Given the description of an element on the screen output the (x, y) to click on. 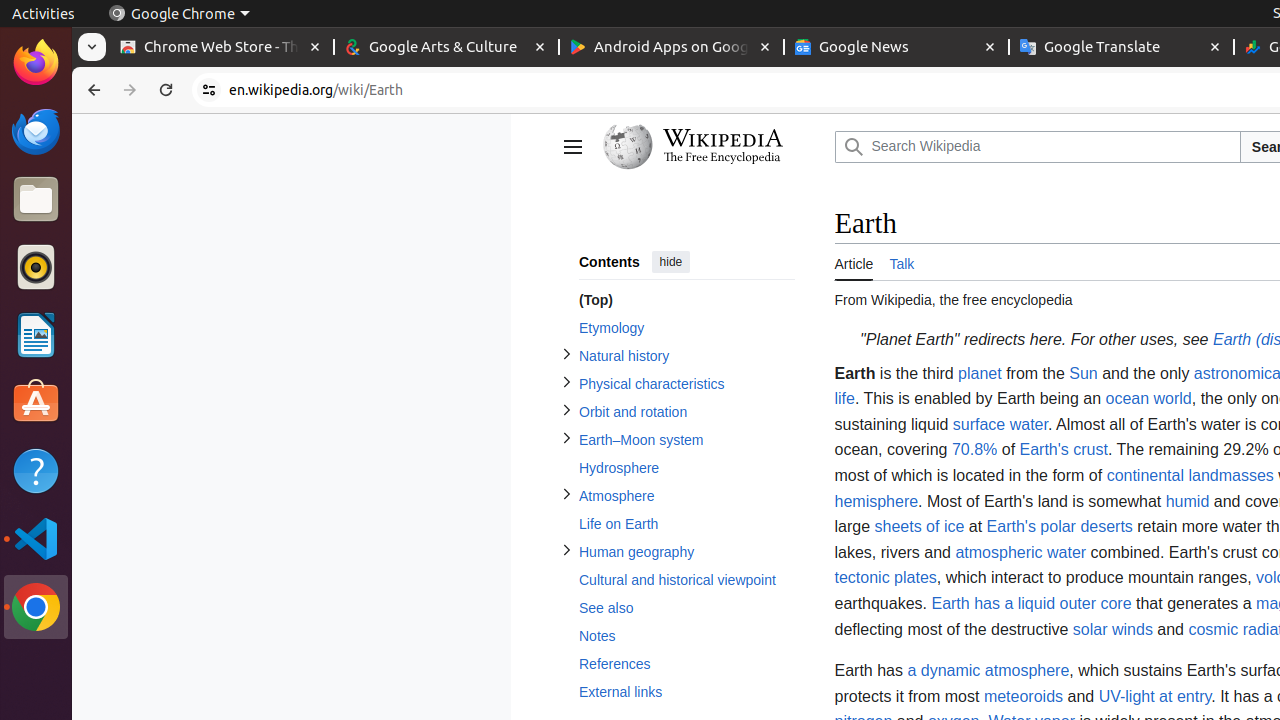
Natural history Element type: link (686, 356)
Toggle Atmosphere subsection Element type: push-button (566, 493)
See also Element type: link (686, 608)
LibreOffice Writer Element type: push-button (36, 334)
Earth has a liquid outer core Element type: link (1031, 603)
